Given the description of an element on the screen output the (x, y) to click on. 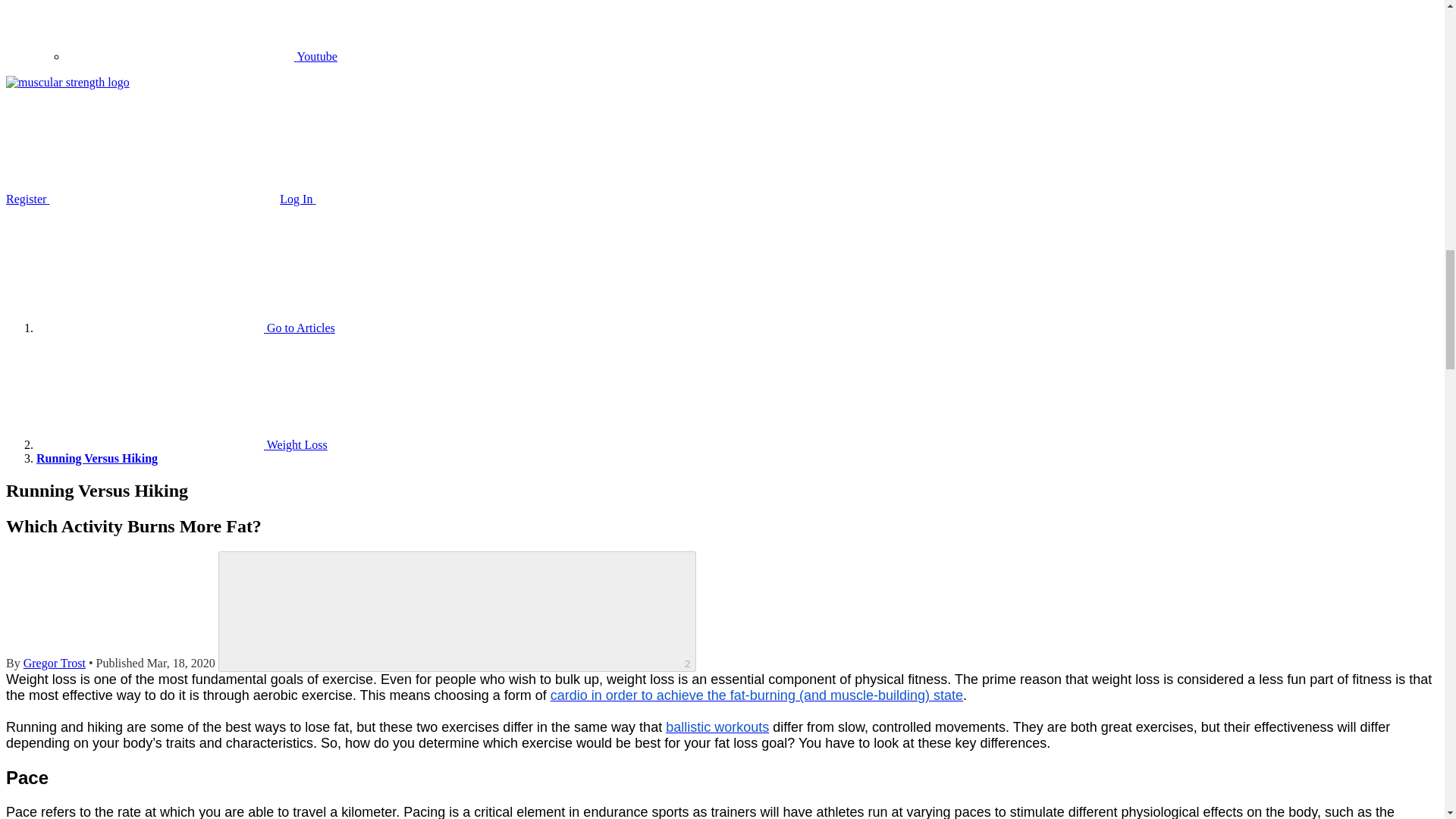
Go to Articles (185, 327)
Log In  (411, 198)
Go To Muscularstrength.com (67, 82)
Register  (140, 198)
 Youtube (201, 56)
Add To Favorites (457, 611)
